Given the description of an element on the screen output the (x, y) to click on. 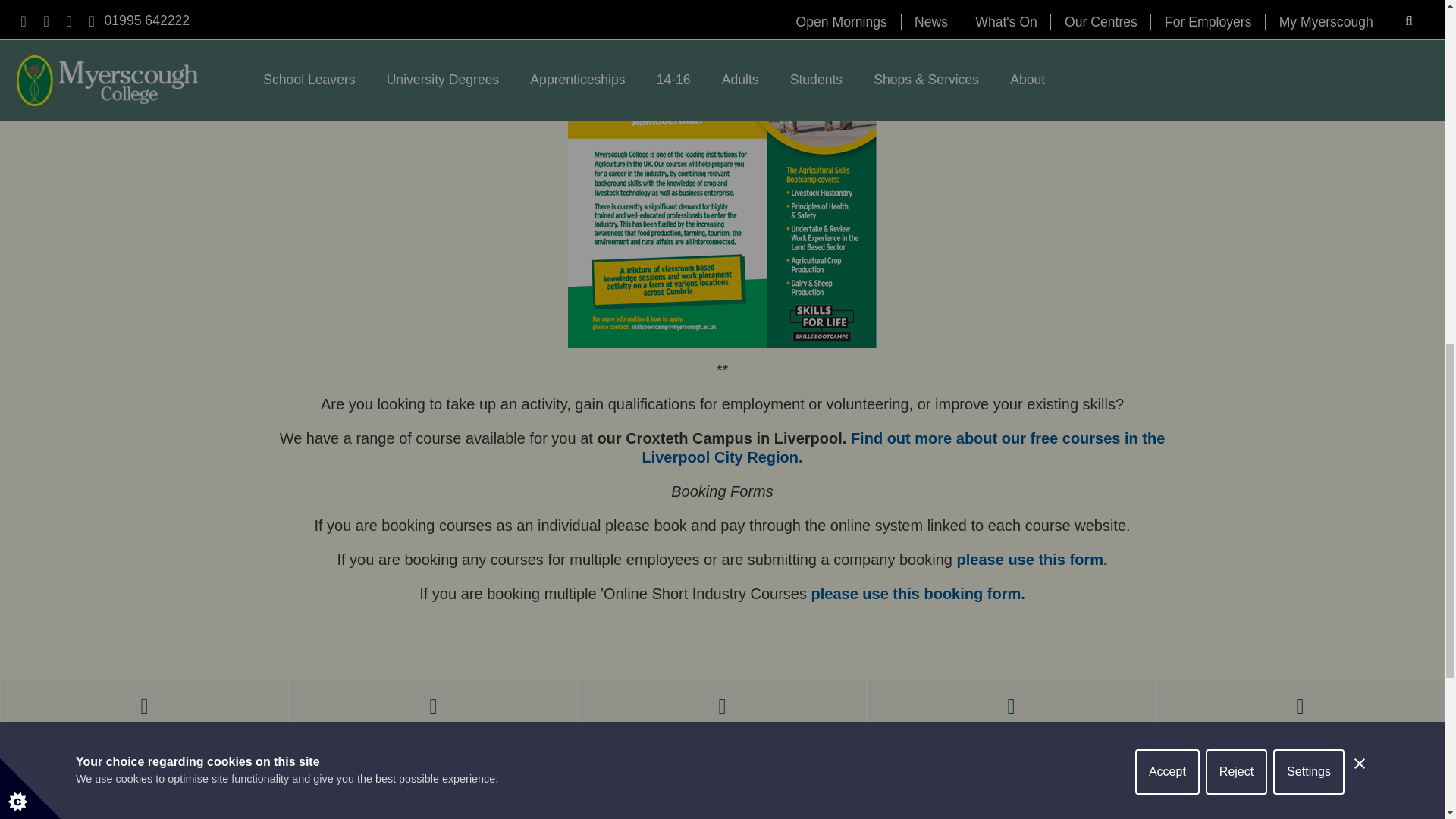
Get in touch (217, 787)
Settings (1307, 8)
Accept (1167, 21)
Reject (1235, 16)
Liverpool City Region Courses (903, 447)
Business Booking Form (1032, 559)
